Given the description of an element on the screen output the (x, y) to click on. 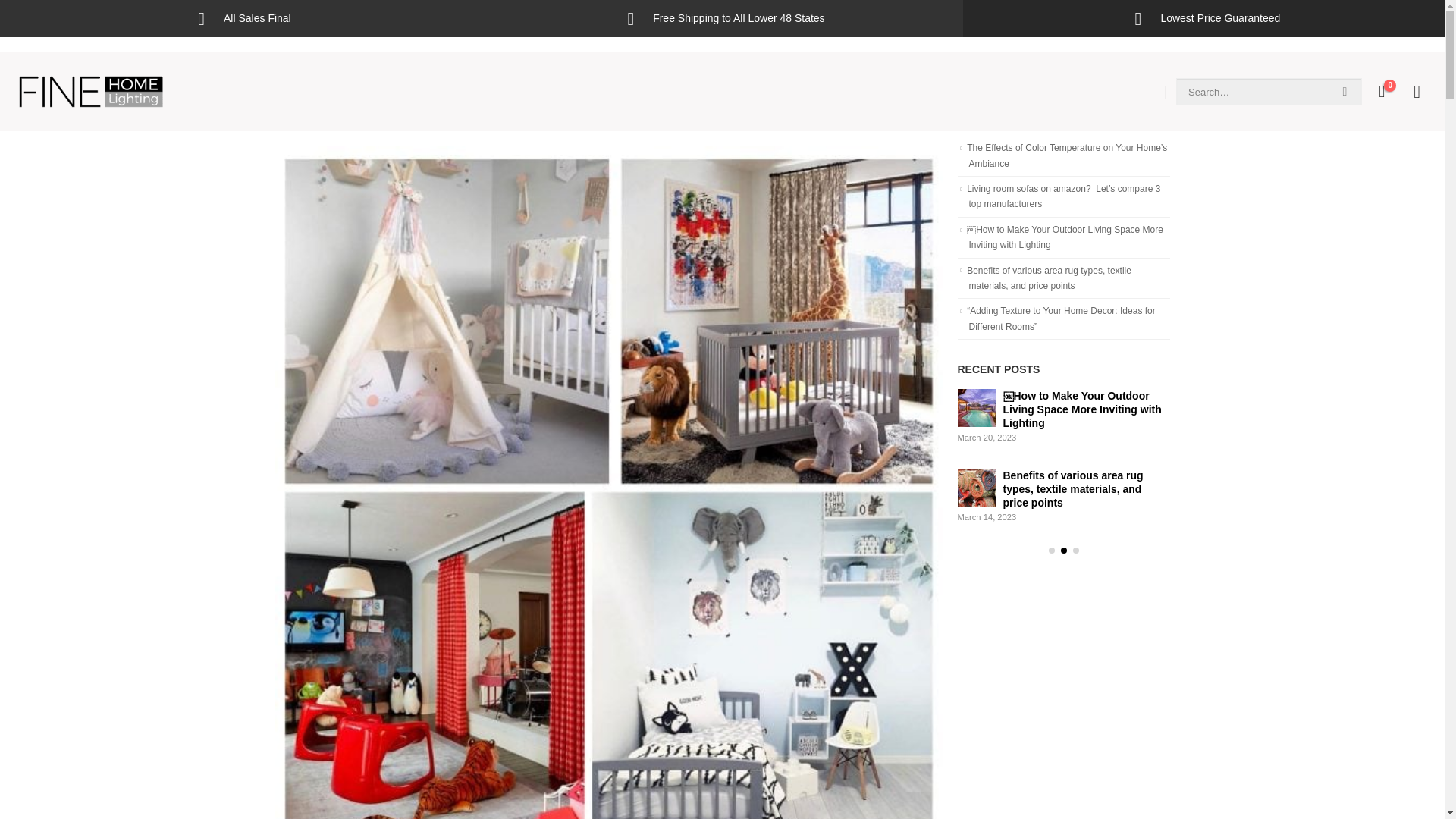
Search (1344, 91)
Fine Home Lamps -  (90, 91)
My Account (1417, 91)
Subscribe (829, 551)
